Given the description of an element on the screen output the (x, y) to click on. 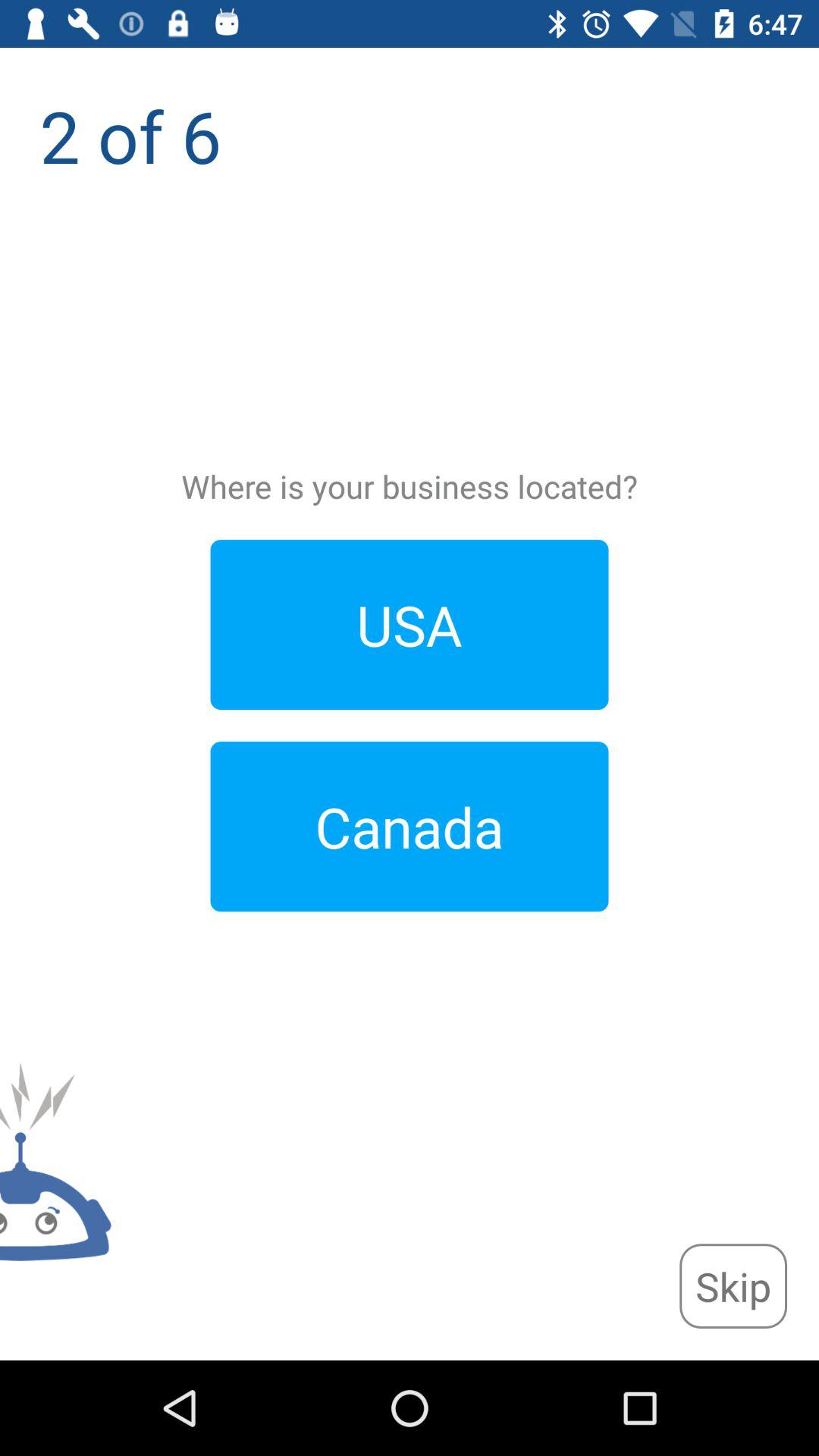
turn on the item above the canada icon (409, 624)
